Given the description of an element on the screen output the (x, y) to click on. 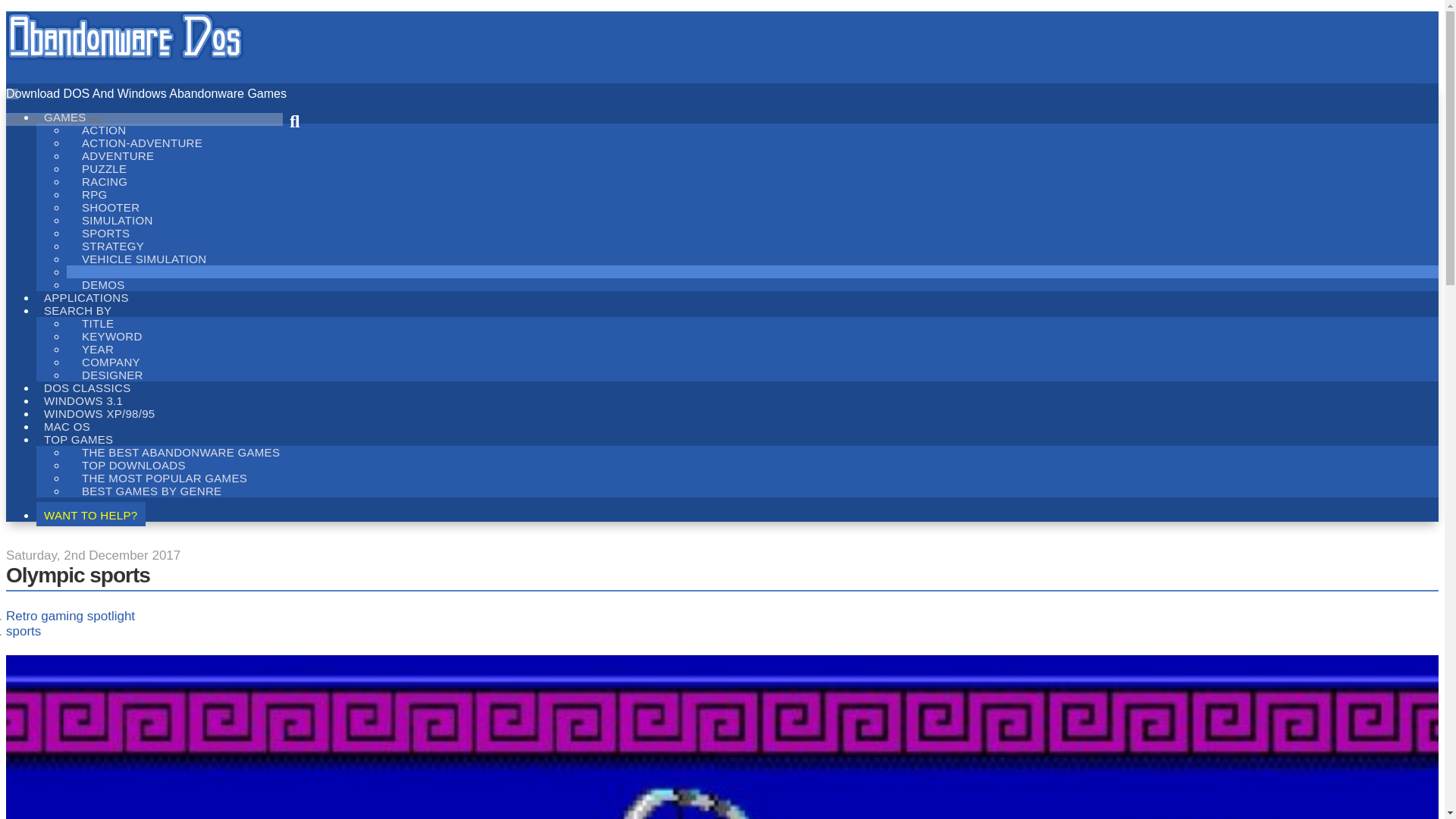
DESIGNER (112, 374)
GAMES (65, 115)
DOS CLASSICS (87, 386)
Retro gaming spotlight (70, 616)
WINDOWS 3.1 (83, 399)
SEARCH BY (77, 309)
ADVENTURE (117, 155)
THE MOST POPULAR GAMES (164, 477)
COMPANY (110, 361)
WANT TO HELP? (90, 514)
RACING (104, 180)
MAC OS (67, 425)
sports (22, 631)
ACTION-ADVENTURE (141, 142)
ACTION (103, 129)
